Given the description of an element on the screen output the (x, y) to click on. 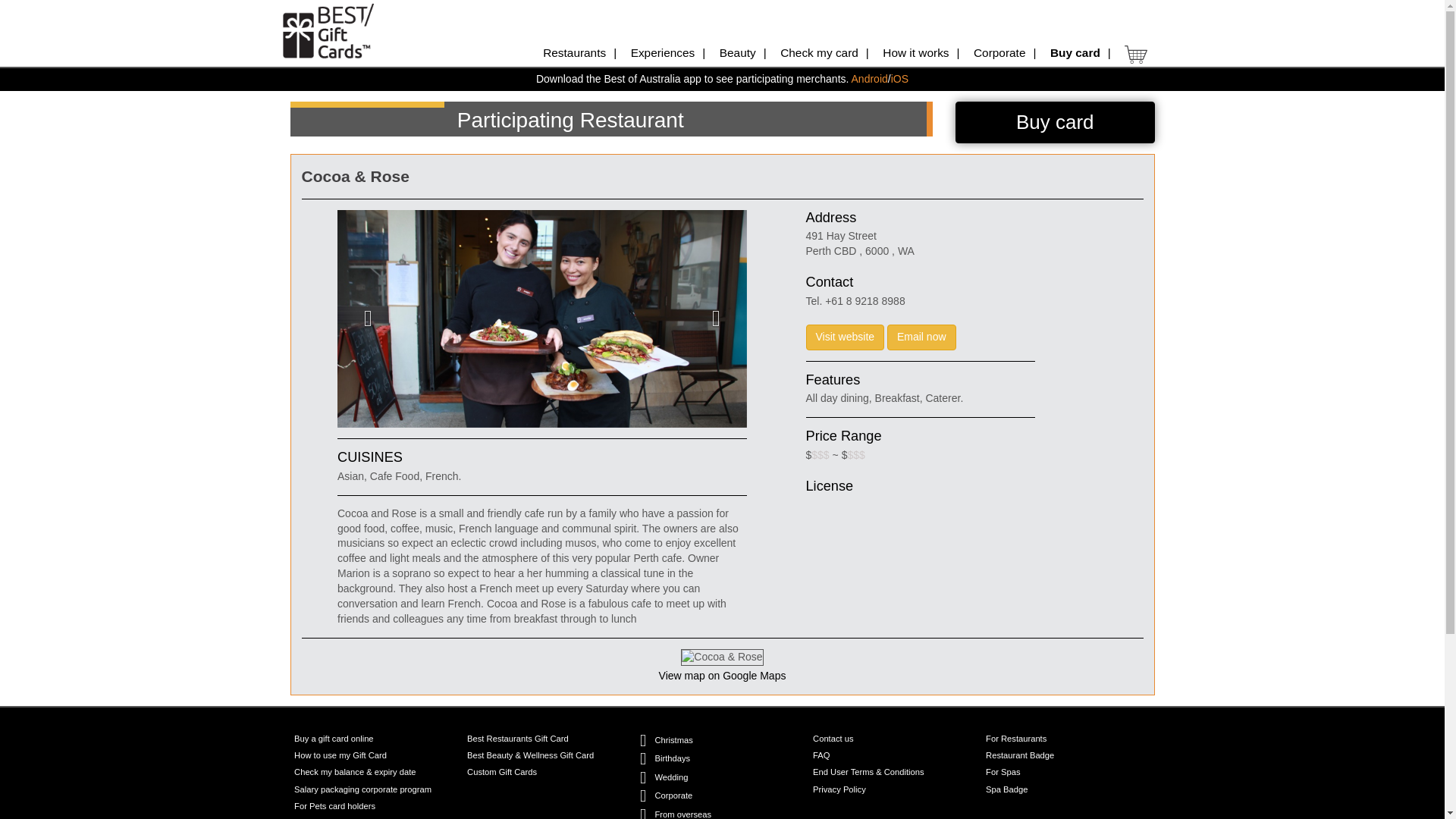
From overseas (682, 813)
How to use my Gift Card (340, 755)
Email now (921, 337)
Buy card (1054, 122)
For Pets card holders (334, 806)
Buy a gift card online (333, 738)
For Restaurants (1015, 738)
Visit website (844, 337)
Contact us (832, 738)
Privacy Policy (839, 789)
Wedding (670, 777)
Custom Gift Cards (502, 771)
FAQ (820, 755)
Best Restaurants Gift Card (518, 738)
View map on Google Maps (722, 675)
